Given the description of an element on the screen output the (x, y) to click on. 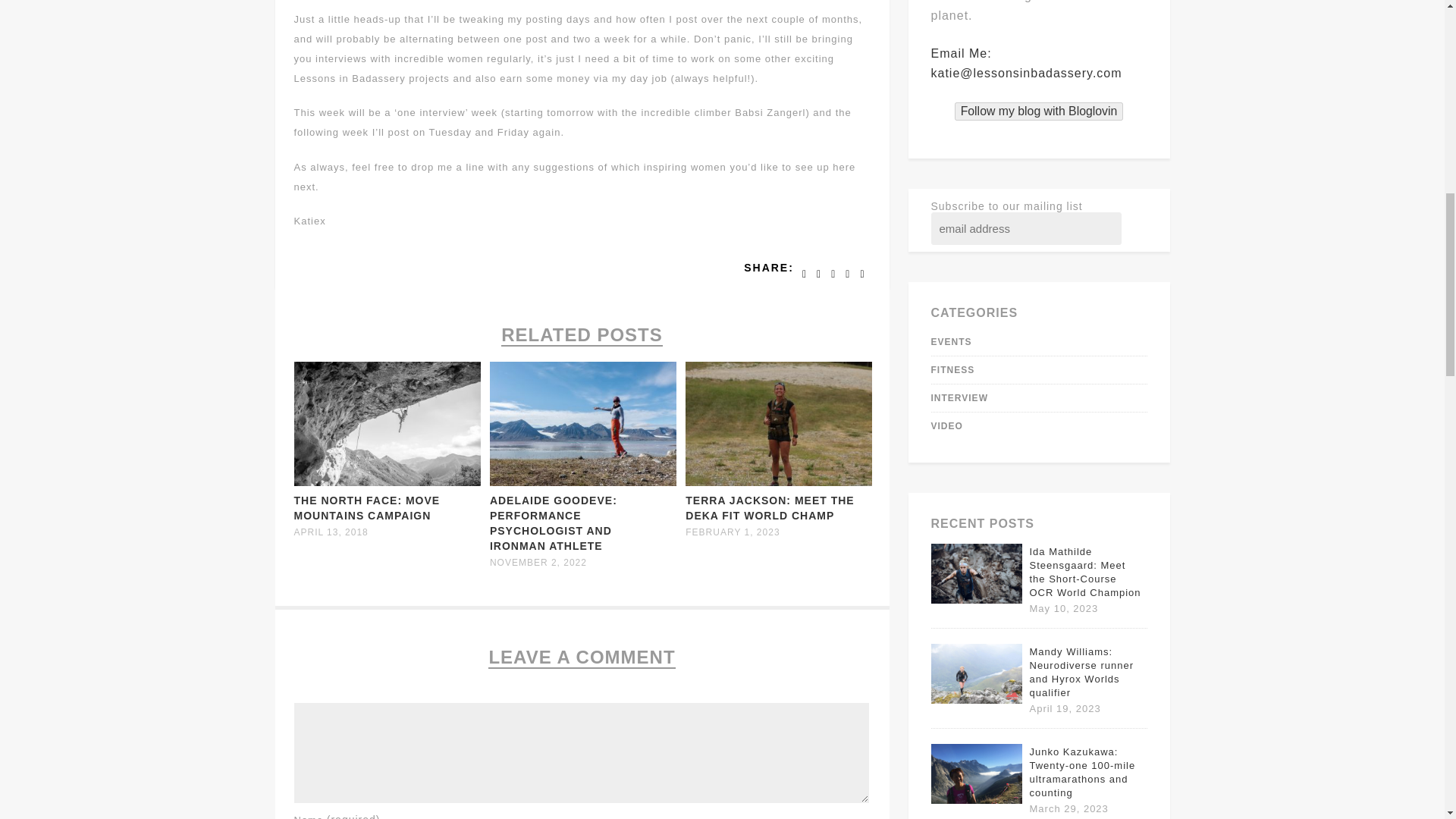
Permanent Link to The North Face: Move Mountains Campaign (367, 507)
EVENTS (951, 341)
FEBRUARY 1, 2023 (731, 532)
TERRA JACKSON: MEET THE DEKA FIT WORLD CHAMP (769, 507)
Subscribe (981, 246)
NOVEMBER 2, 2022 (537, 562)
FITNESS (953, 369)
Follow my blog with Bloglovin (1039, 111)
THE NORTH FACE: MOVE MOUNTAINS CAMPAIGN (367, 507)
